Given the description of an element on the screen output the (x, y) to click on. 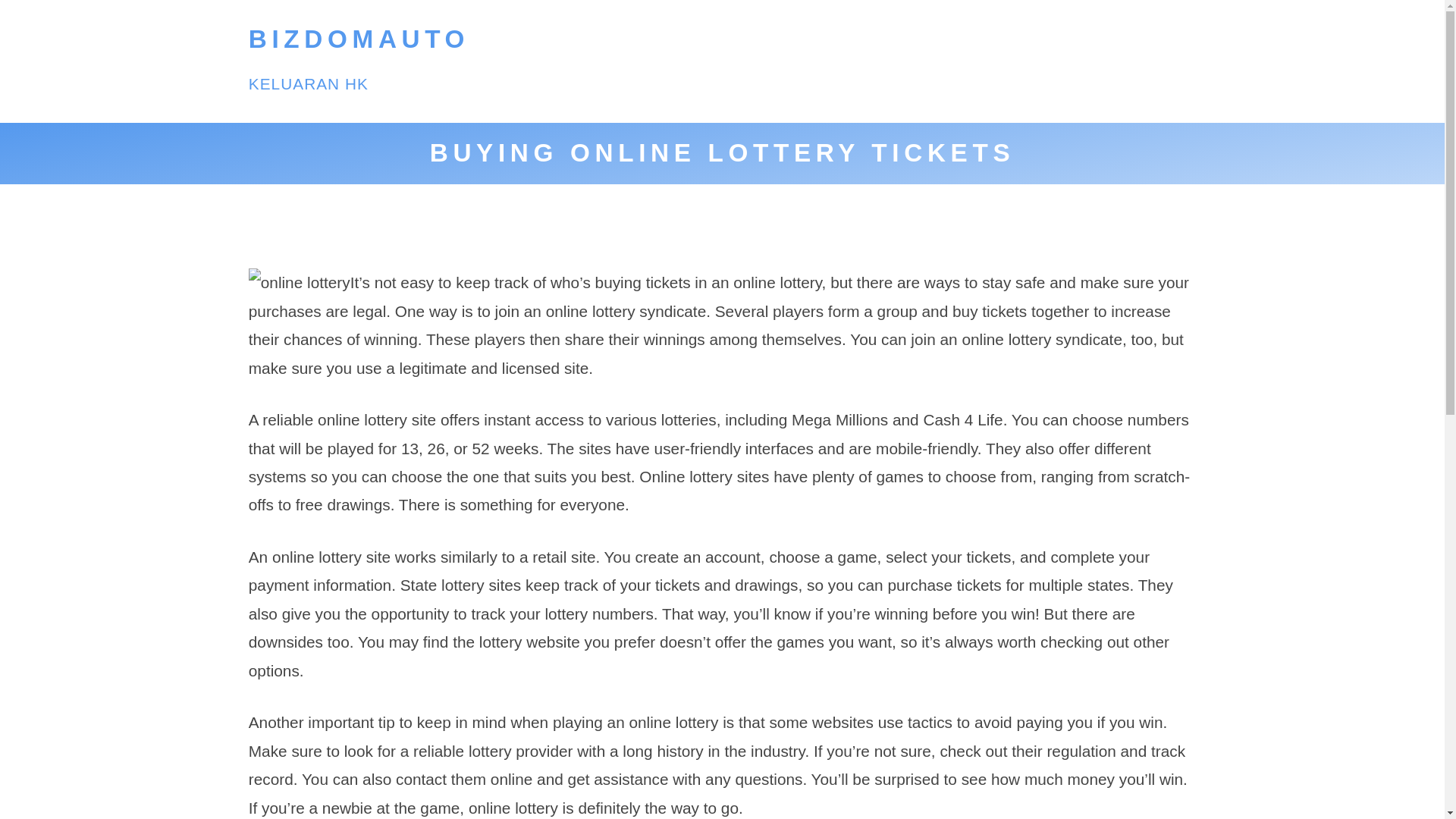
KELUARAN HK (308, 83)
BIZDOMAUTO (358, 39)
